Given the description of an element on the screen output the (x, y) to click on. 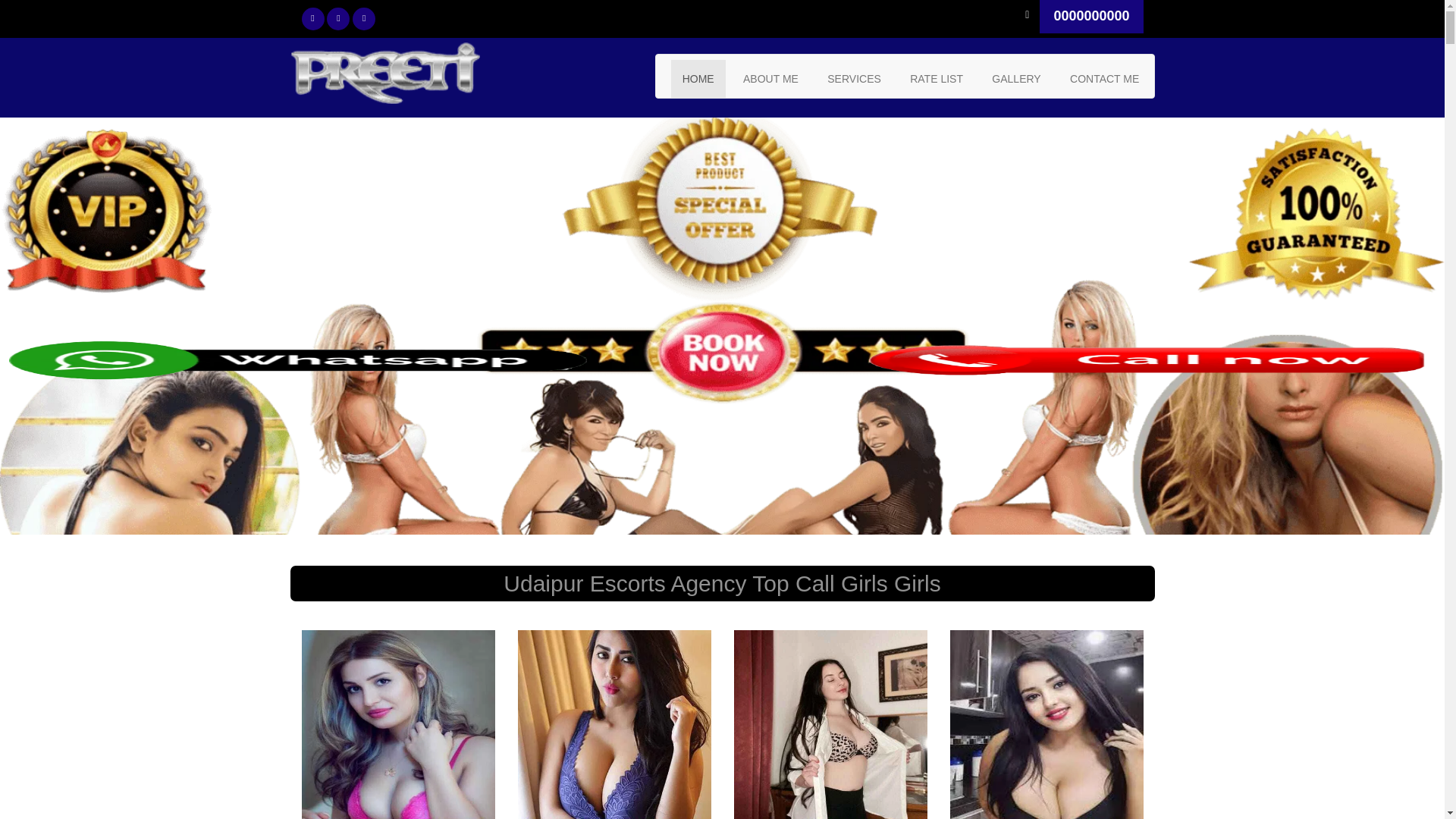
Poonam from VIP Udaipur Escort Agency (613, 724)
Udaipur Escort Service (770, 78)
Teena from About Me Call Girls (1045, 724)
GALLERY (1015, 78)
Udaipur Escort service (1104, 78)
SERVICES (853, 78)
About Me Russian Models (853, 78)
About Me Female Escorts (1015, 78)
CONTACT ME (1104, 78)
ABOUT ME (770, 78)
HOME (698, 78)
Follow me On Twitter (312, 18)
Follow me On Facebook (337, 18)
Udaipur Escorts Service (384, 73)
Follow me On Instagram (363, 18)
